Given the description of an element on the screen output the (x, y) to click on. 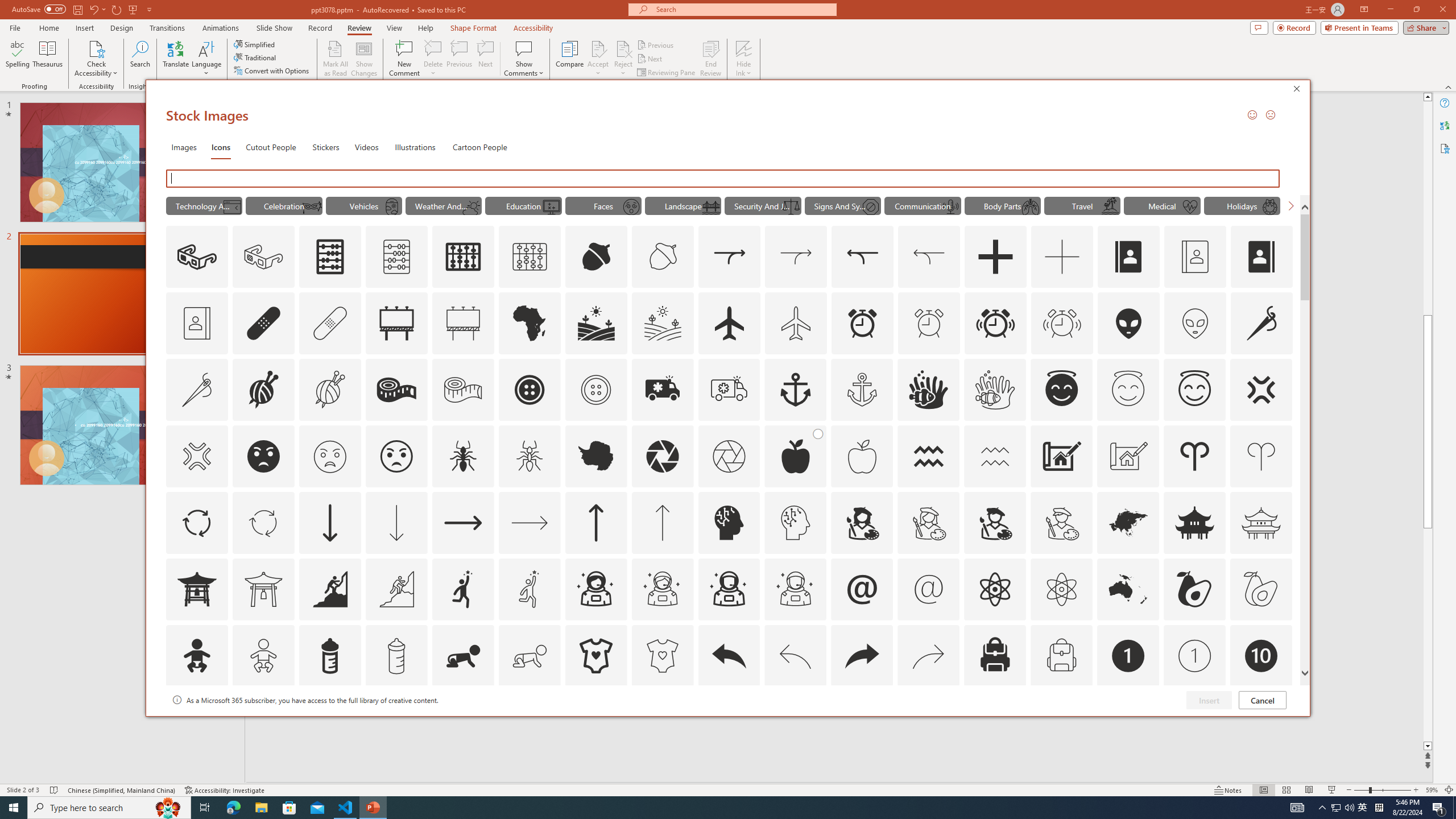
AutomationID: Icons_ScalesofJustice_M (790, 206)
AutomationID: Icons_At (861, 588)
AutomationID: Icons_Badge7_M (995, 721)
AutomationID: Icons_ArtistMale (995, 522)
Spelling... (17, 58)
AutomationID: Icons_ArrowDown (329, 522)
AutomationID: Icons_Badge10 (1260, 655)
Illustrations (415, 146)
